Given the description of an element on the screen output the (x, y) to click on. 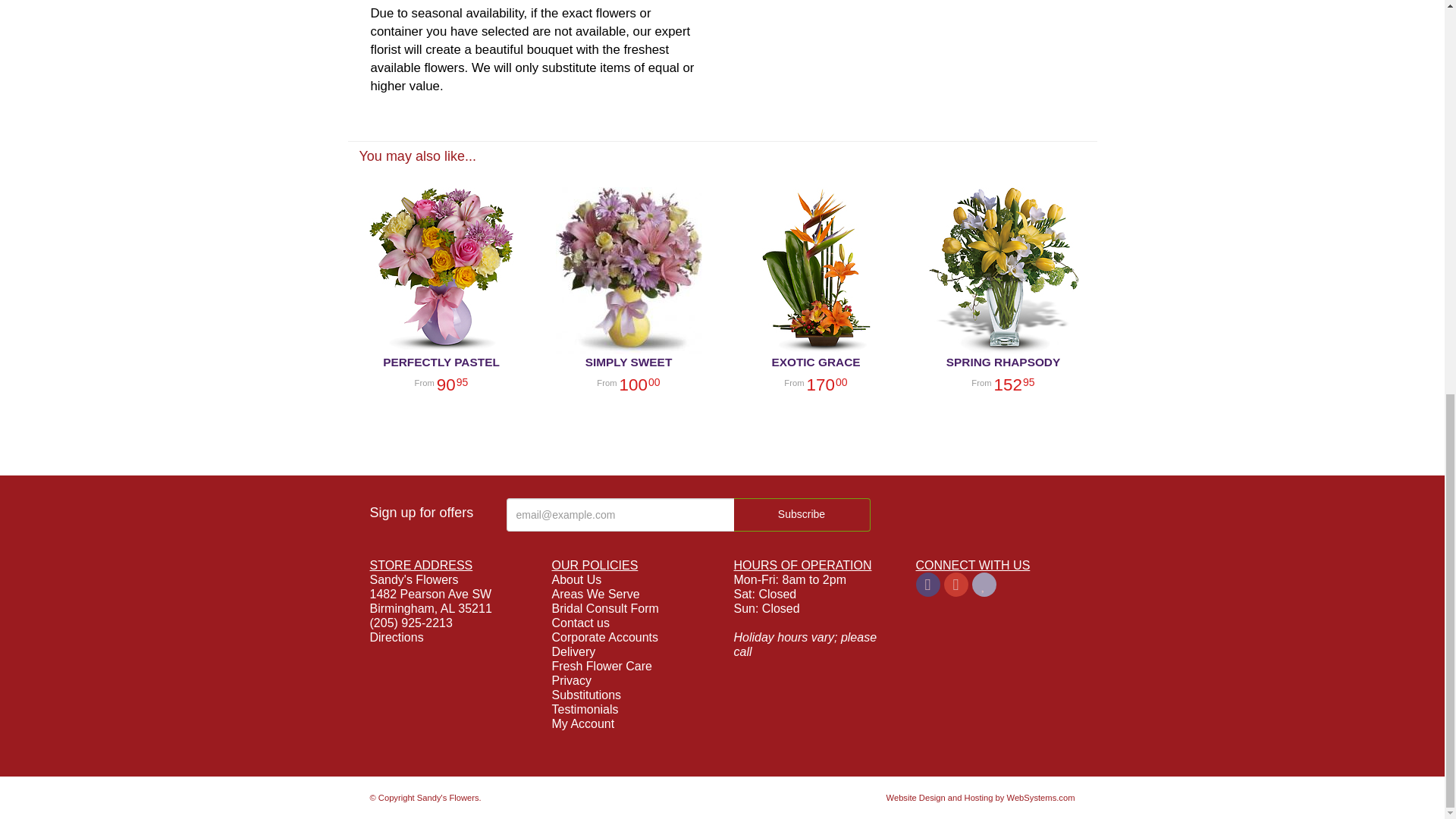
Subscribe (801, 514)
